Given the description of an element on the screen output the (x, y) to click on. 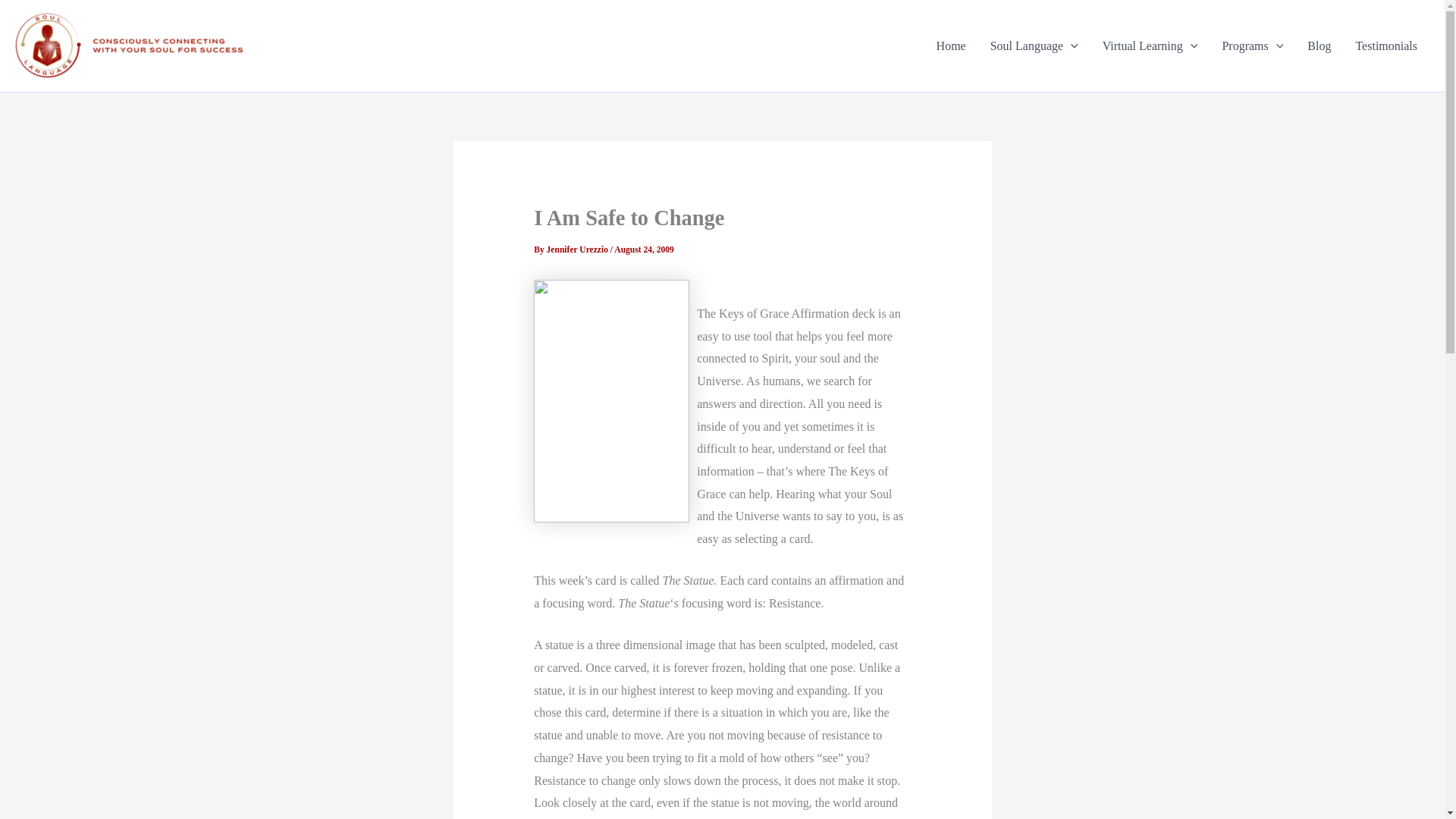
View all posts by Jennifer Urezzio (578, 248)
Virtual Learning (1149, 45)
Soul Language (1034, 45)
Programs (1252, 45)
Testimonials (1385, 45)
